Given the description of an element on the screen output the (x, y) to click on. 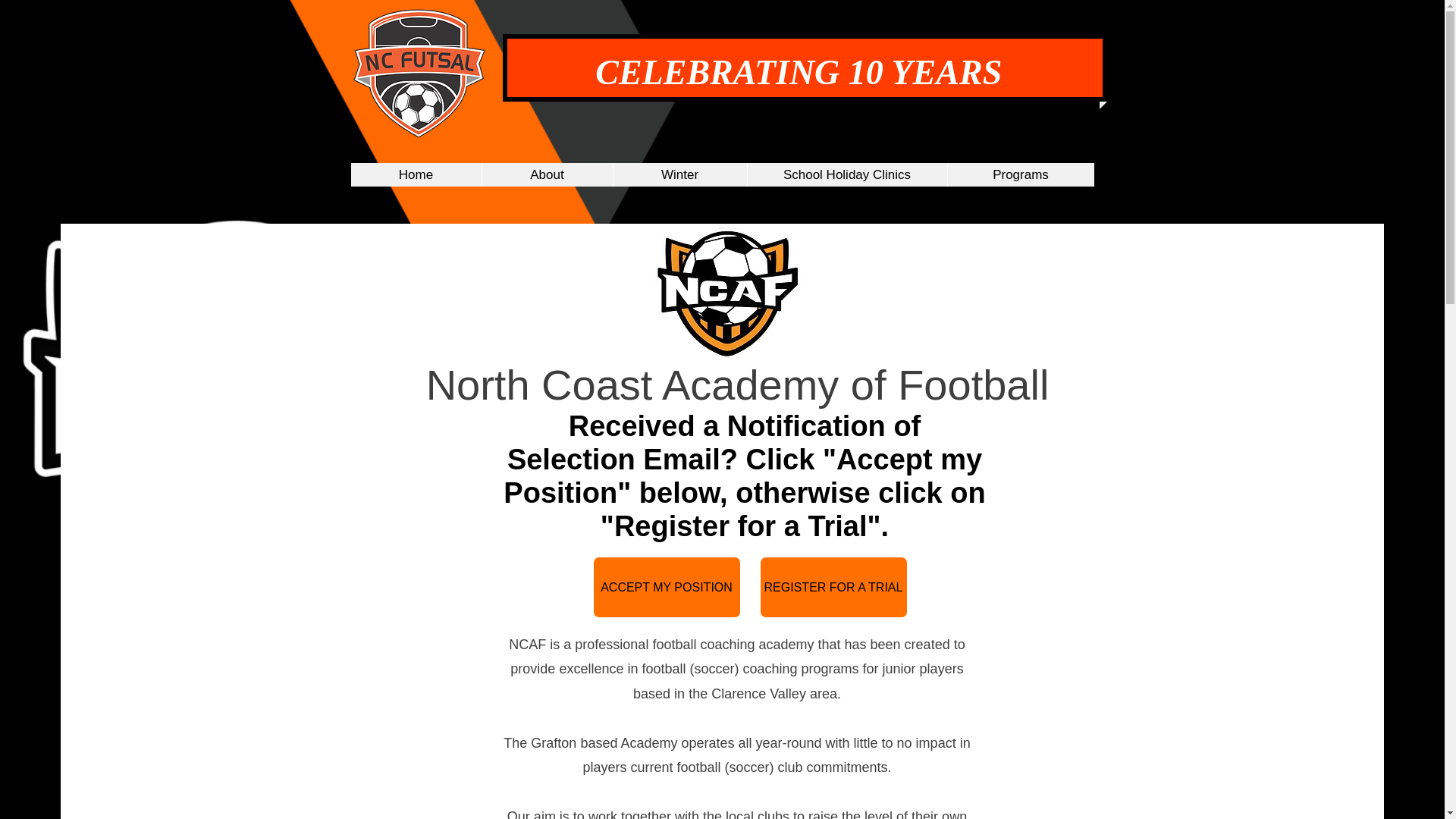
Home (415, 174)
Winter (679, 174)
School Holiday Clinics (845, 174)
REGISTER FOR A TRIAL (832, 587)
About (545, 174)
ACCEPT MY POSITION (665, 587)
Programs (1019, 174)
